Given the description of an element on the screen output the (x, y) to click on. 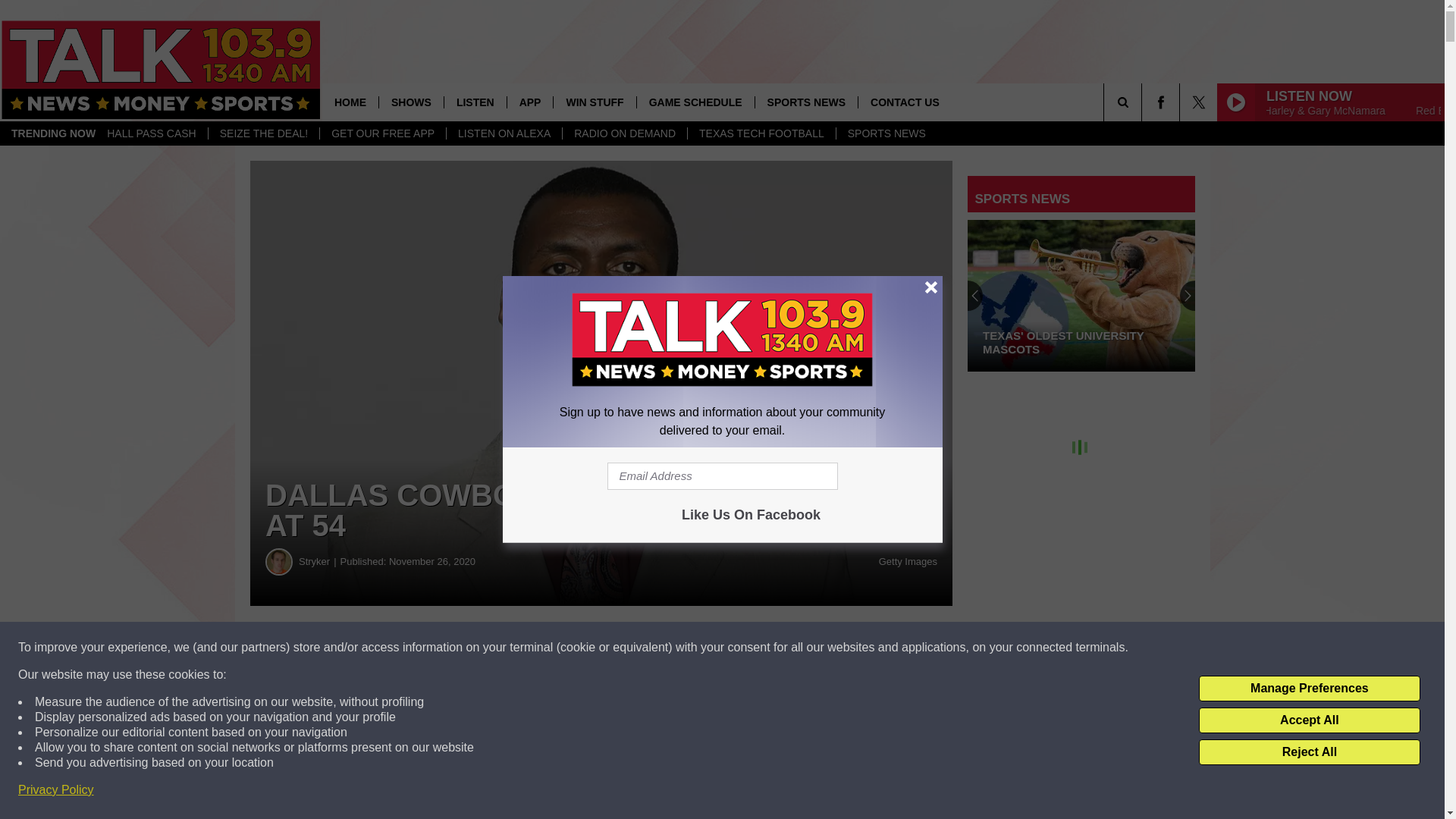
HOME (349, 102)
Reject All (1309, 751)
Share on Twitter (741, 647)
WIN STUFF (593, 102)
SPORTS NEWS (886, 133)
RADIO ON DEMAND (624, 133)
SEARCH (1144, 102)
TEXAS TECH FOOTBALL (761, 133)
LISTEN (475, 102)
SEIZE THE DEAL! (263, 133)
HALL PASS CASH (152, 133)
SPORTS NEWS (805, 102)
LISTEN ON ALEXA (503, 133)
CONTACT US (904, 102)
Share on Facebook (460, 647)
